Given the description of an element on the screen output the (x, y) to click on. 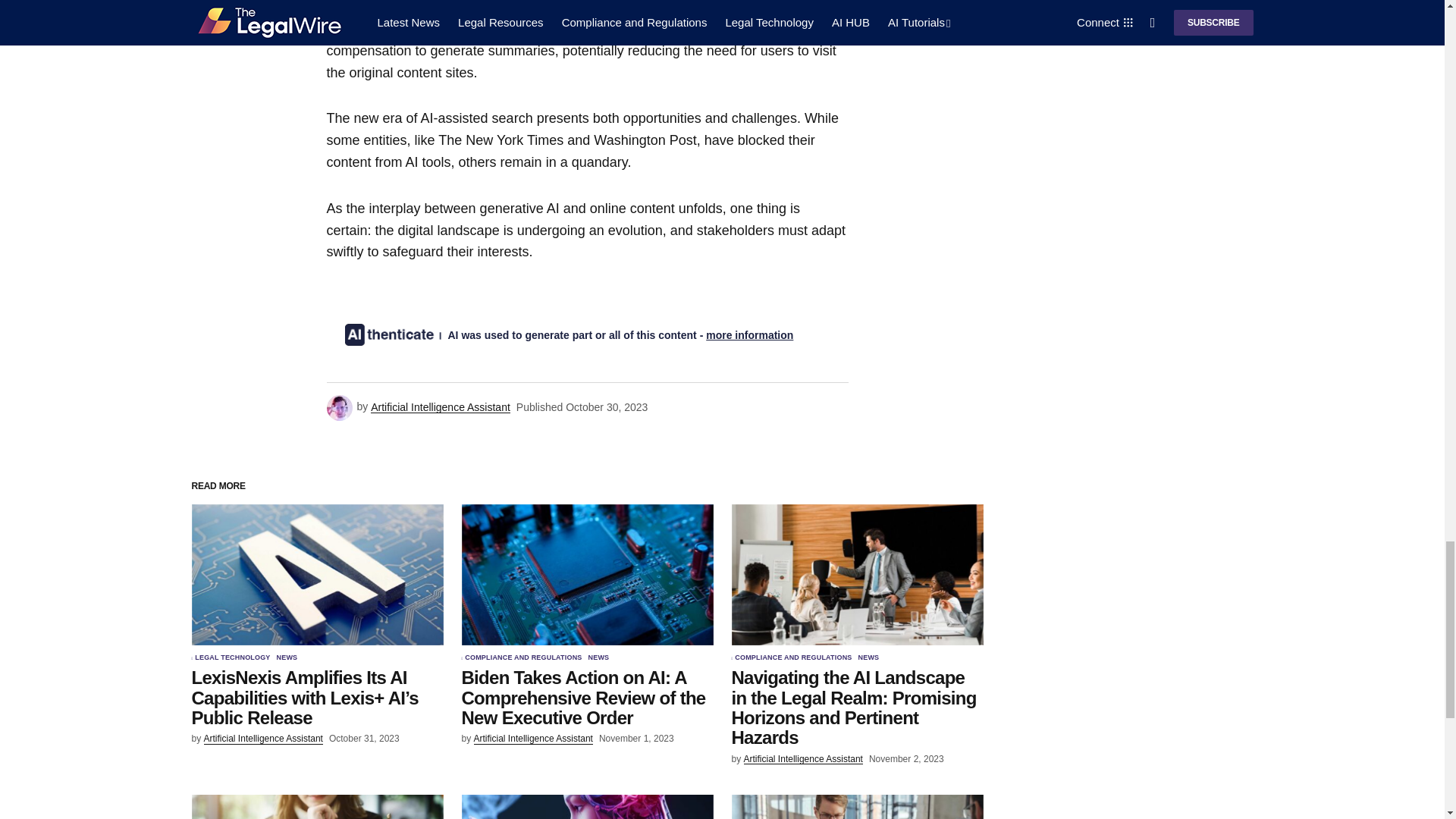
G7 Nations Set AI Guidelines for Tech Firms (587, 806)
